Given the description of an element on the screen output the (x, y) to click on. 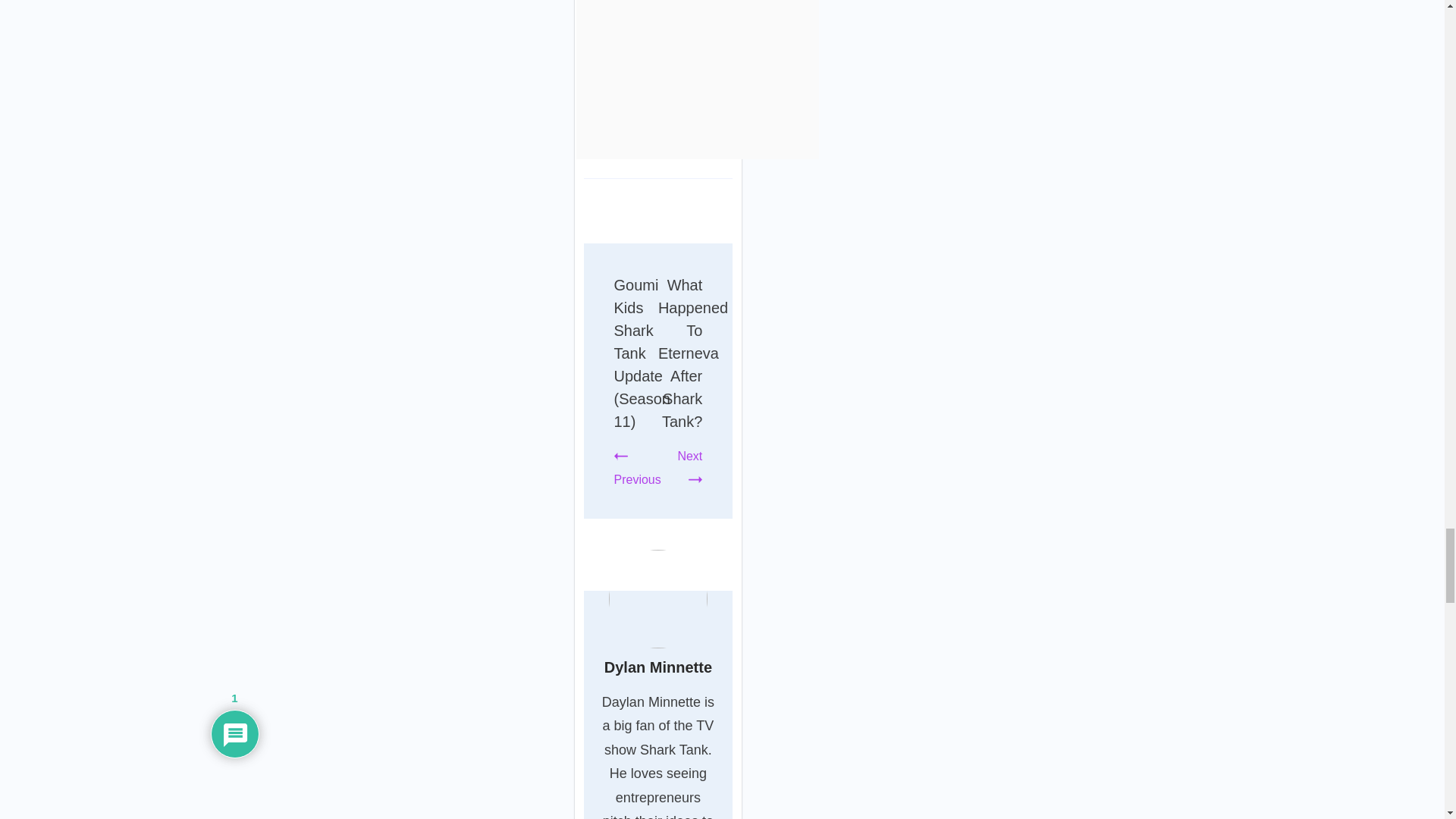
Previous (637, 467)
